Given the description of an element on the screen output the (x, y) to click on. 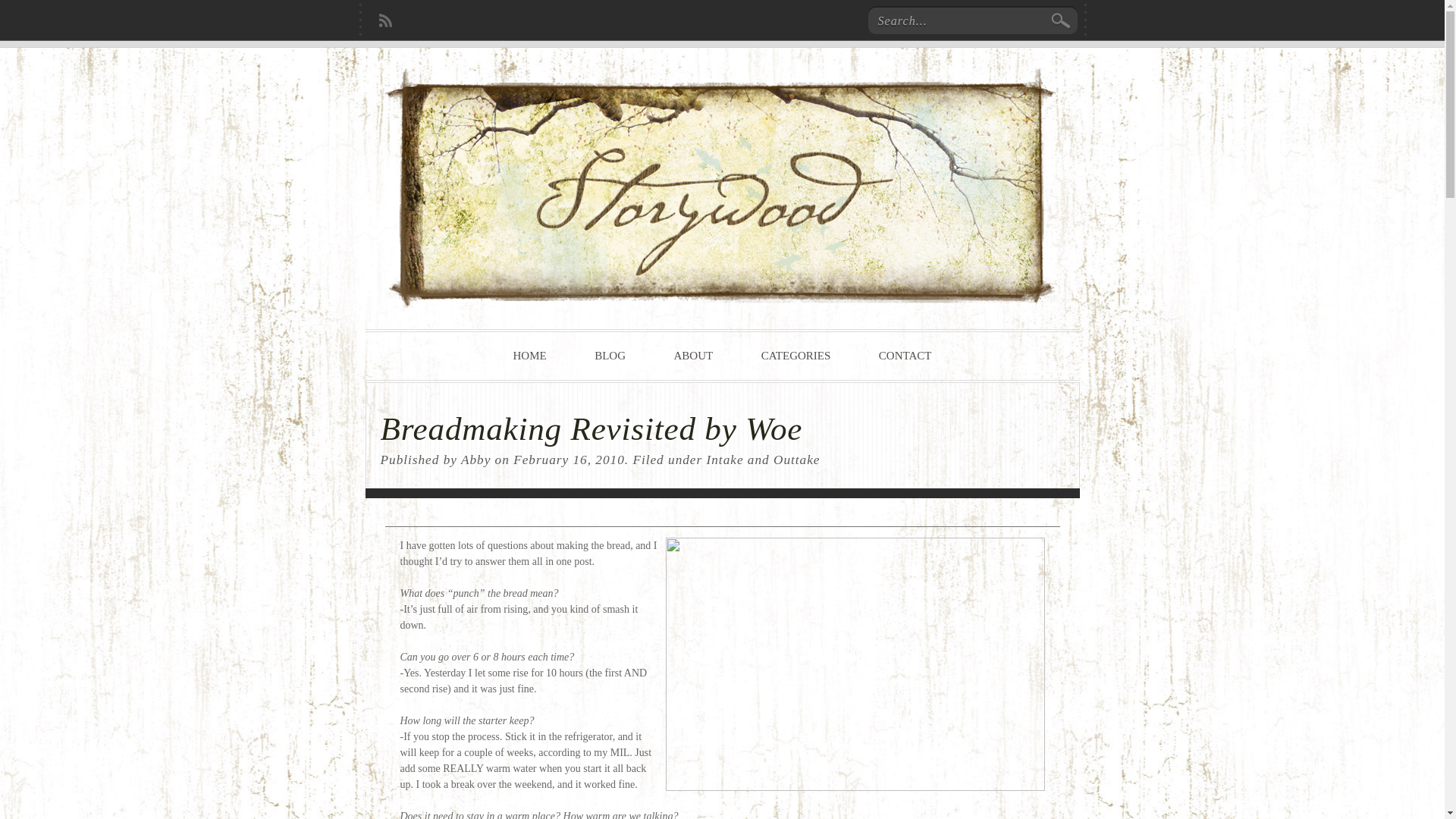
16 (580, 459)
CONTACT (905, 365)
Search (1061, 20)
RSS Feed (384, 17)
Intake and Outtake (763, 459)
Search... (954, 20)
HOME (529, 365)
Search... (954, 20)
Search (1061, 20)
2010 (609, 459)
BLOG (610, 365)
Abby (475, 459)
February (541, 459)
CATEGORIES (796, 365)
ABOUT (693, 365)
